Given the description of an element on the screen output the (x, y) to click on. 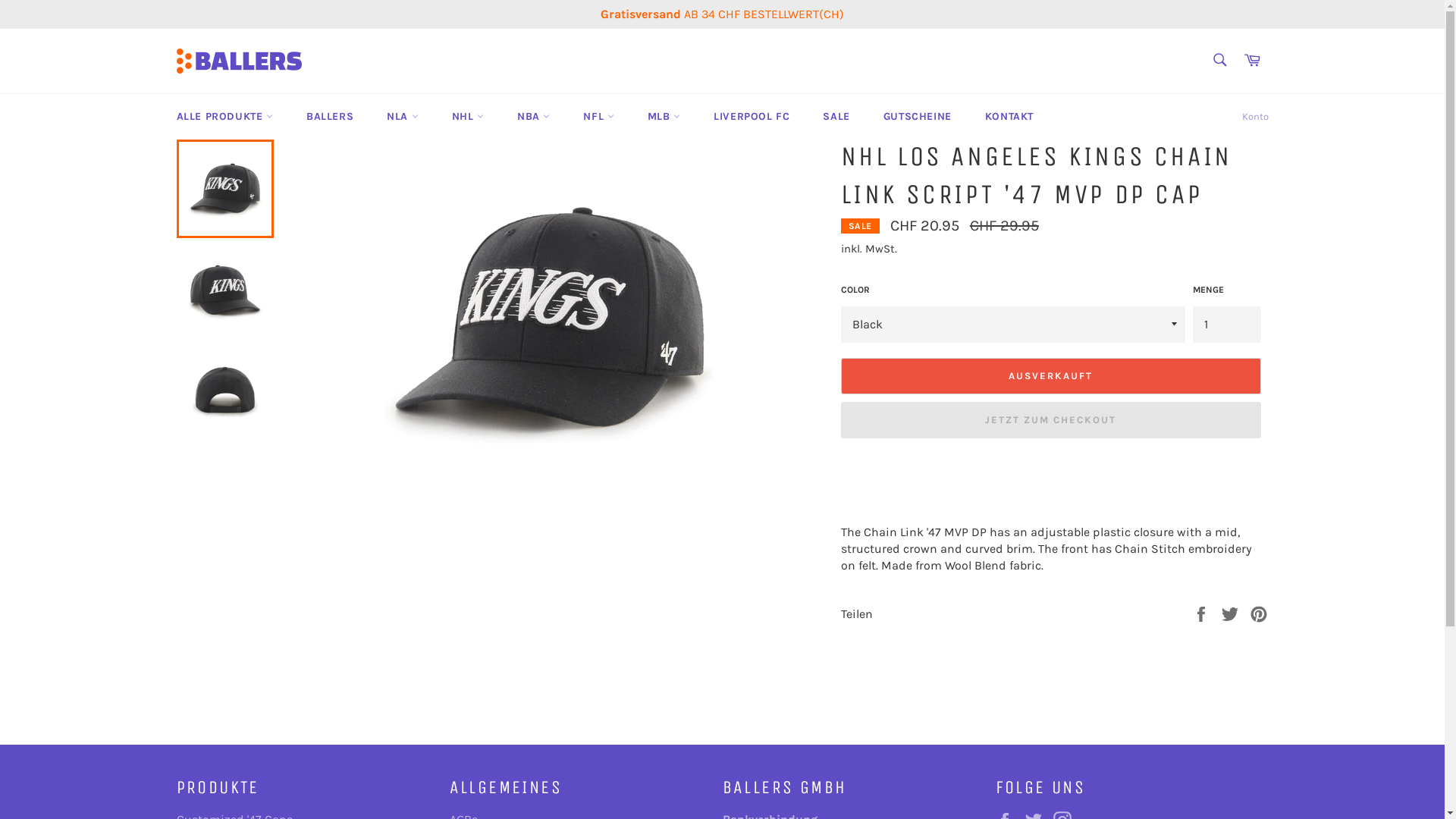
NBA Element type: text (533, 116)
LIVERPOOL FC Element type: text (751, 116)
GUTSCHEINE Element type: text (917, 116)
NHL Element type: text (467, 116)
ALLE PRODUKTE Element type: text (223, 116)
Warenkorb Element type: text (1251, 60)
JETZT ZUM CHECKOUT Element type: text (1050, 419)
Auf Pinterest pinnen Element type: text (1258, 612)
SALE Element type: text (835, 116)
Konto Element type: text (1255, 116)
NFL Element type: text (597, 116)
Auf Twitter twittern Element type: text (1231, 612)
AUSVERKAUFT Element type: text (1050, 375)
MLB Element type: text (663, 116)
KONTAKT Element type: text (1008, 116)
BALLERS Element type: text (329, 116)
Suchen Element type: text (1218, 59)
Auf Facebook teilen Element type: text (1202, 612)
NLA Element type: text (402, 116)
